Given the description of an element on the screen output the (x, y) to click on. 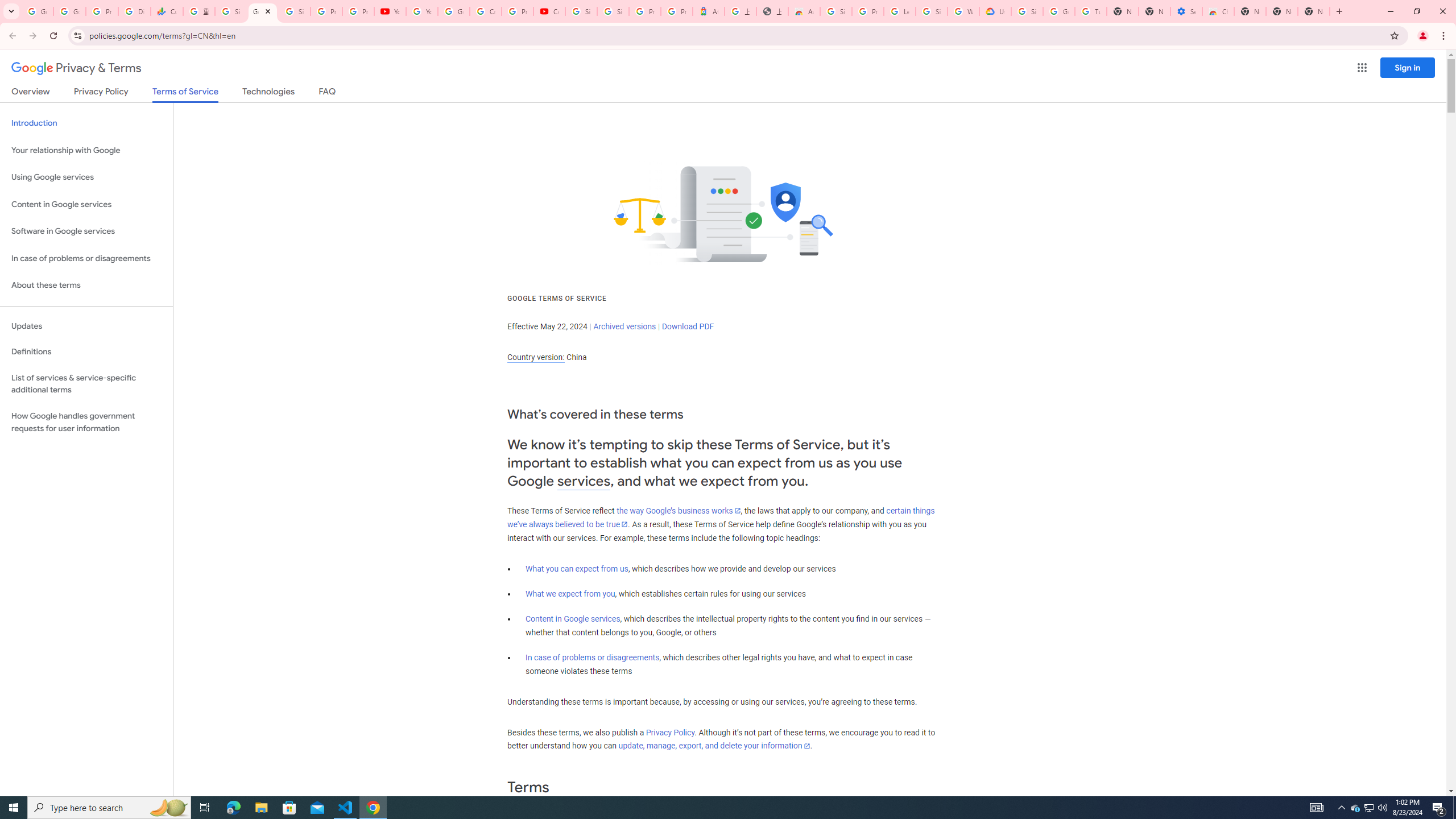
YouTube (421, 11)
Archived versions (624, 326)
New Tab (1313, 11)
Atour Hotel - Google hotels (708, 11)
YouTube (389, 11)
Content in Google services (572, 618)
Sign in - Google Accounts (581, 11)
Overview (30, 93)
Awesome Screen Recorder & Screenshot - Chrome Web Store (804, 11)
In case of problems or disagreements (592, 657)
Sign in - Google Accounts (1027, 11)
